Given the description of an element on the screen output the (x, y) to click on. 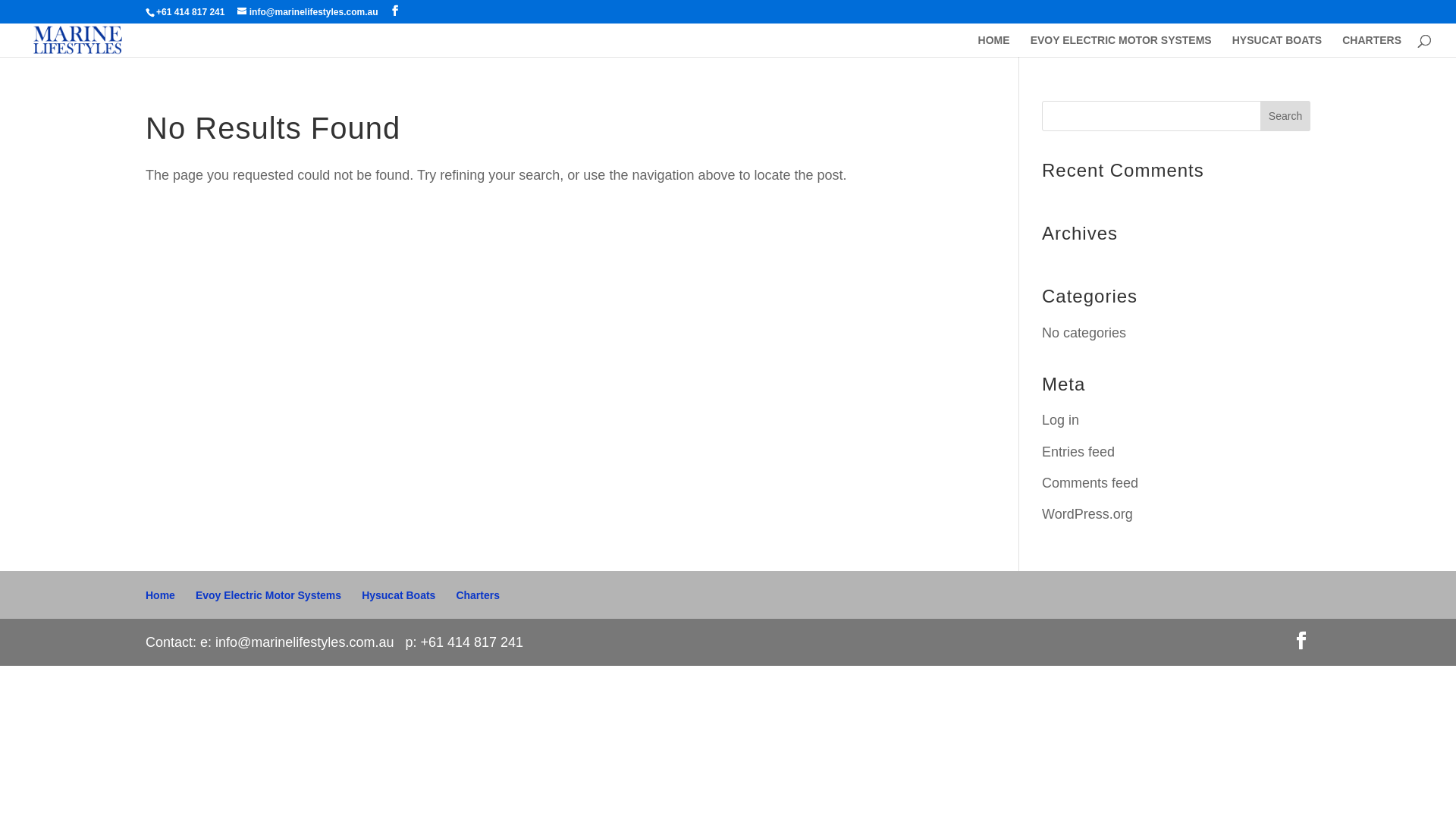
Home Element type: text (160, 595)
HYSUCAT BOATS Element type: text (1276, 45)
HOME Element type: text (994, 45)
Entries feed Element type: text (1077, 451)
Comments feed Element type: text (1089, 482)
Charters Element type: text (477, 595)
Search Element type: text (1285, 115)
Hysucat Boats Element type: text (398, 595)
EVOY ELECTRIC MOTOR SYSTEMS Element type: text (1120, 45)
Evoy Electric Motor Systems Element type: text (268, 595)
Log in Element type: text (1060, 419)
info@marinelifestyles.com.au Element type: text (307, 11)
CHARTERS Element type: text (1371, 45)
WordPress.org Element type: text (1086, 513)
